Given the description of an element on the screen output the (x, y) to click on. 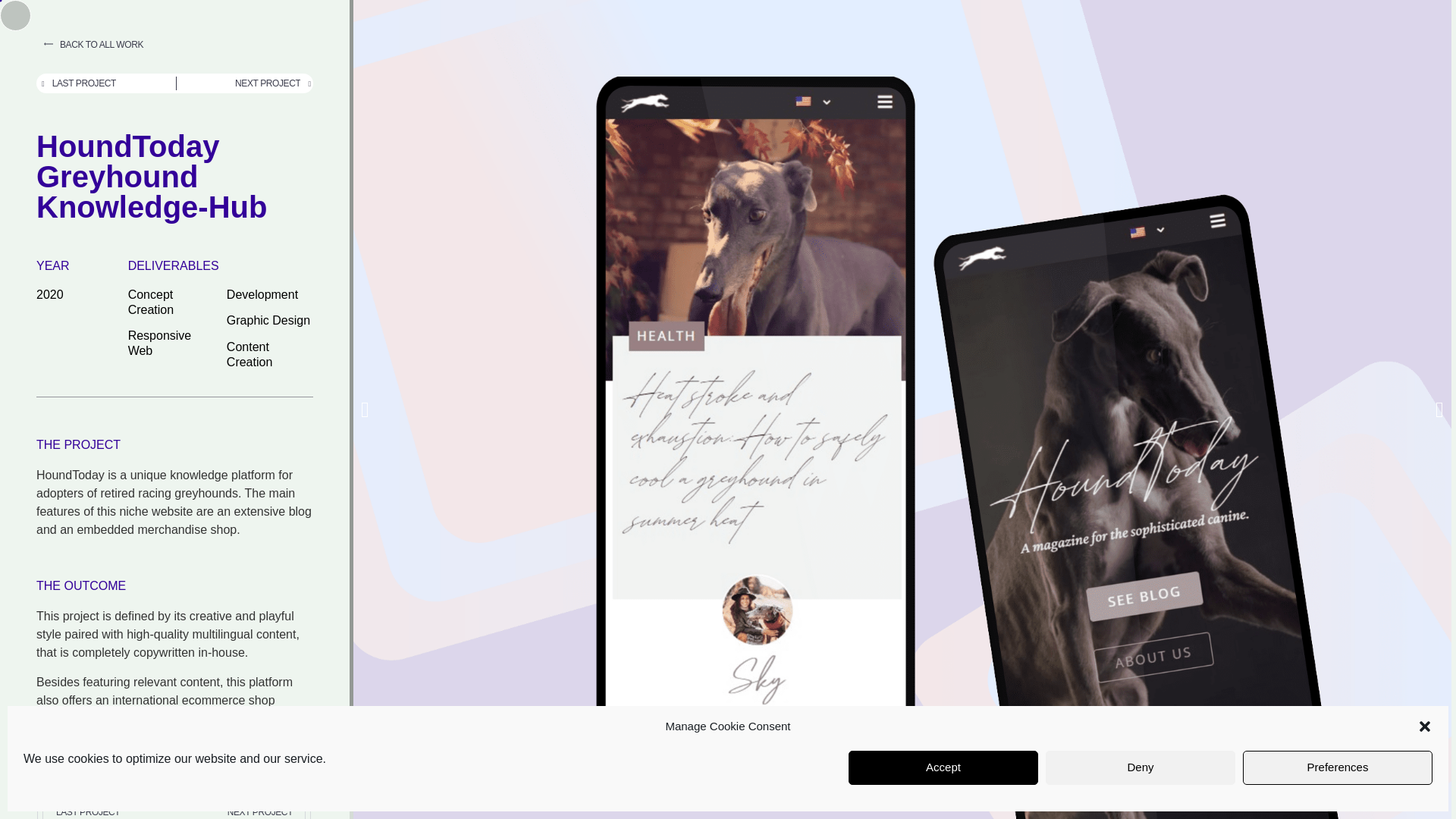
Go To Website (84, 766)
NEXT PROJECT (243, 83)
Work With Us (1387, 791)
BACK TO ALL WORK (84, 44)
LAST PROJECT (109, 83)
